Given the description of an element on the screen output the (x, y) to click on. 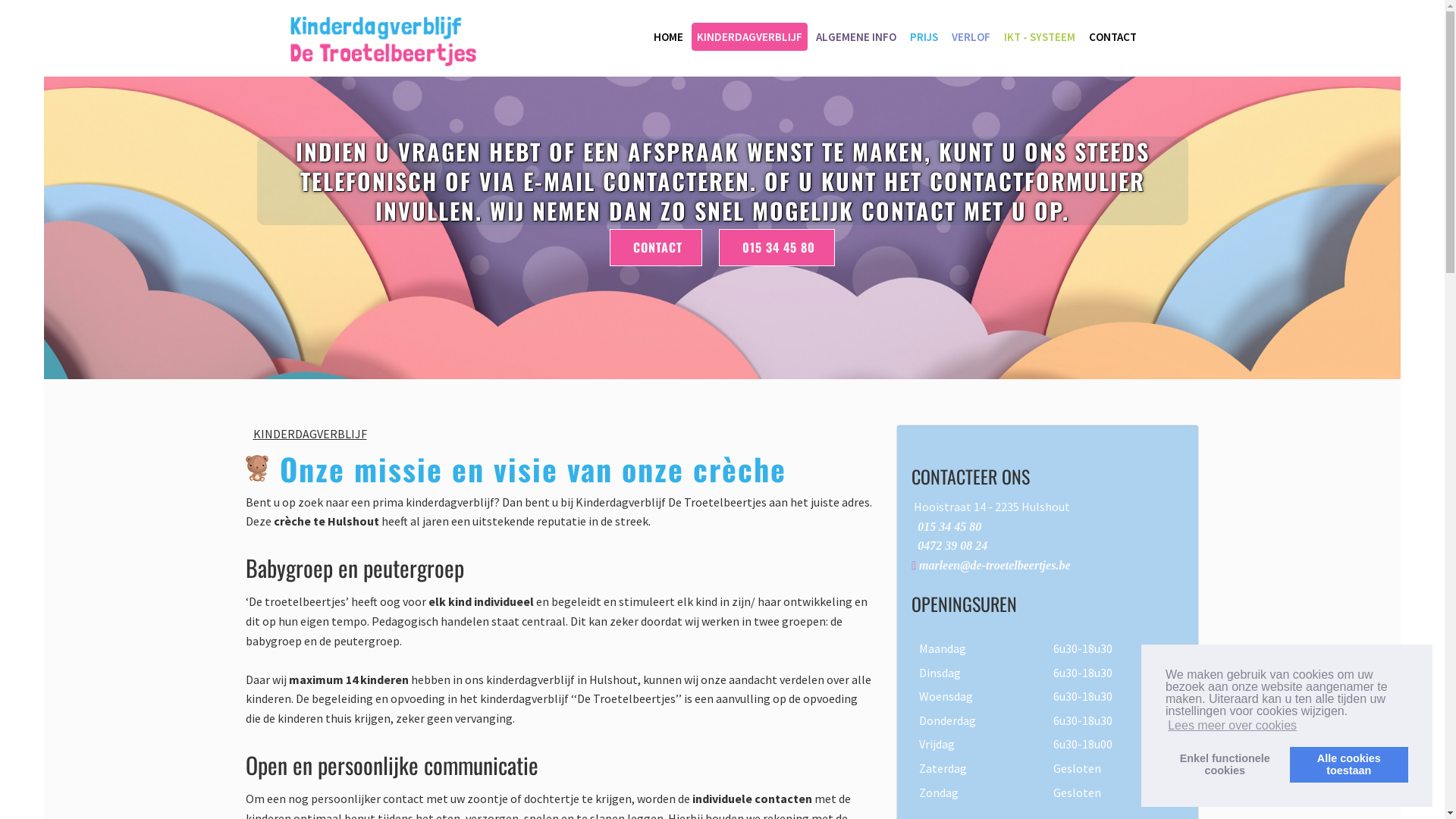
015 34 45 80 Element type: text (949, 526)
Hooistraat 14 - 2235 Hulshout Element type: text (991, 506)
0472 39 08 24 Element type: text (952, 545)
HOME Element type: text (667, 36)
KINDERDAGVERBLIJF Element type: text (310, 433)
 CONTACT Element type: text (655, 247)
marleen@de-troetelbeertjes.be Element type: text (994, 564)
CONTACT Element type: text (1111, 36)
 015 34 45 80 Element type: text (776, 247)
Enkel functionele
cookies Element type: text (1224, 764)
PRIJS Element type: text (922, 36)
ALGEMENE INFO Element type: text (854, 36)
Alle cookies
toestaan Element type: text (1348, 764)
Lees meer over cookies Element type: text (1232, 725)
VERLOF Element type: text (970, 36)
KINDERDAGVERBLIJF Element type: text (749, 36)
IKT - SYSTEEM Element type: text (1038, 36)
